Given the description of an element on the screen output the (x, y) to click on. 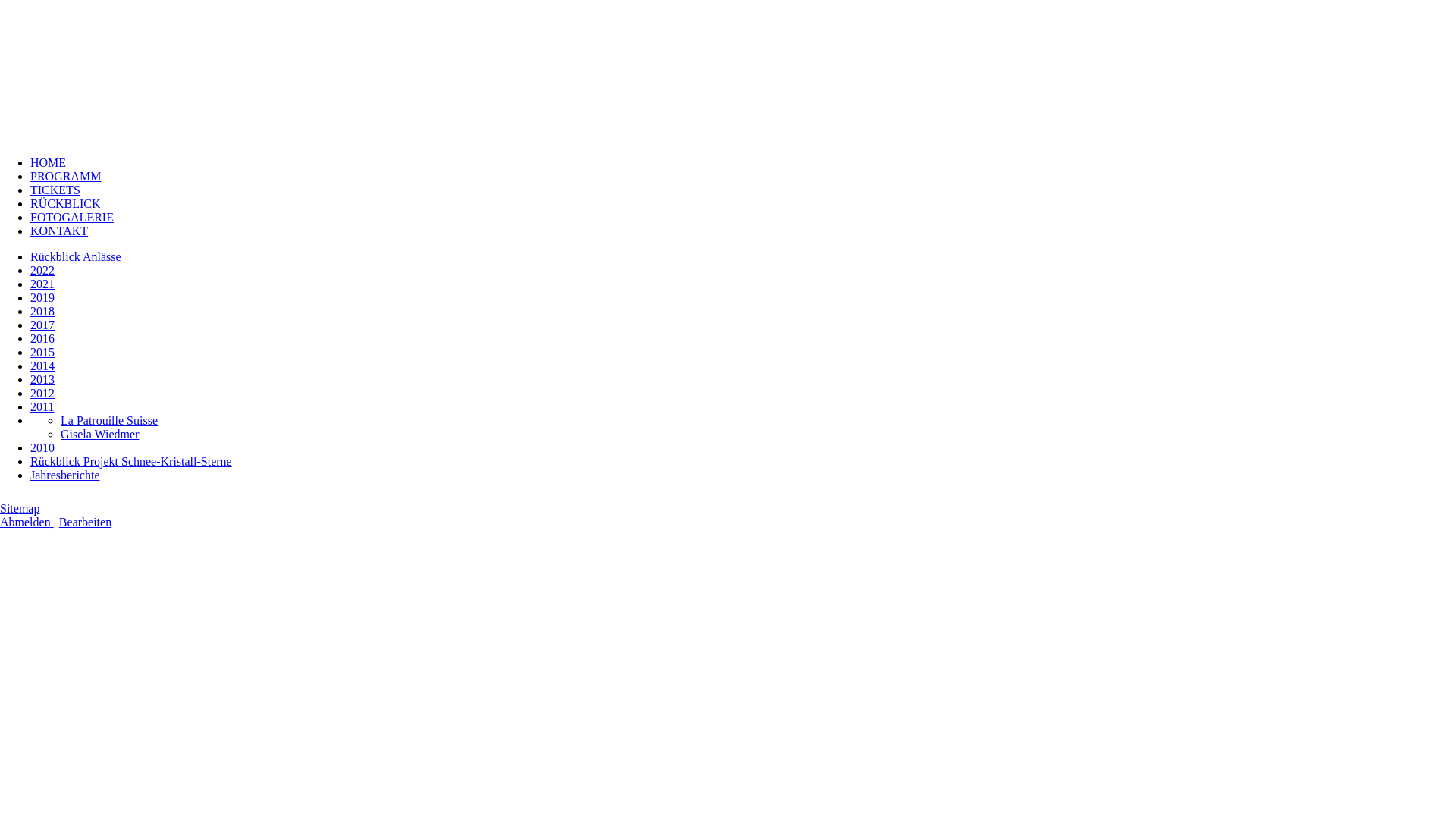
2015 Element type: text (42, 351)
Abmelden Element type: text (26, 521)
2014 Element type: text (42, 365)
Sitemap Element type: text (19, 508)
2017 Element type: text (42, 324)
Jahresberichte Element type: text (65, 474)
PROGRAMM Element type: text (65, 175)
Gisela Wiedmer Element type: text (99, 433)
2010 Element type: text (42, 447)
2013 Element type: text (42, 379)
La Patrouille Suisse Element type: text (108, 420)
FOTOGALERIE Element type: text (71, 216)
2011 Element type: text (41, 406)
2016 Element type: text (42, 338)
Bearbeiten Element type: text (85, 521)
TICKETS Element type: text (55, 189)
2019 Element type: text (42, 297)
KONTAKT Element type: text (58, 230)
2021 Element type: text (42, 283)
HOME Element type: text (47, 162)
2018 Element type: text (42, 310)
2022 Element type: text (42, 269)
2012 Element type: text (42, 392)
